Given the description of an element on the screen output the (x, y) to click on. 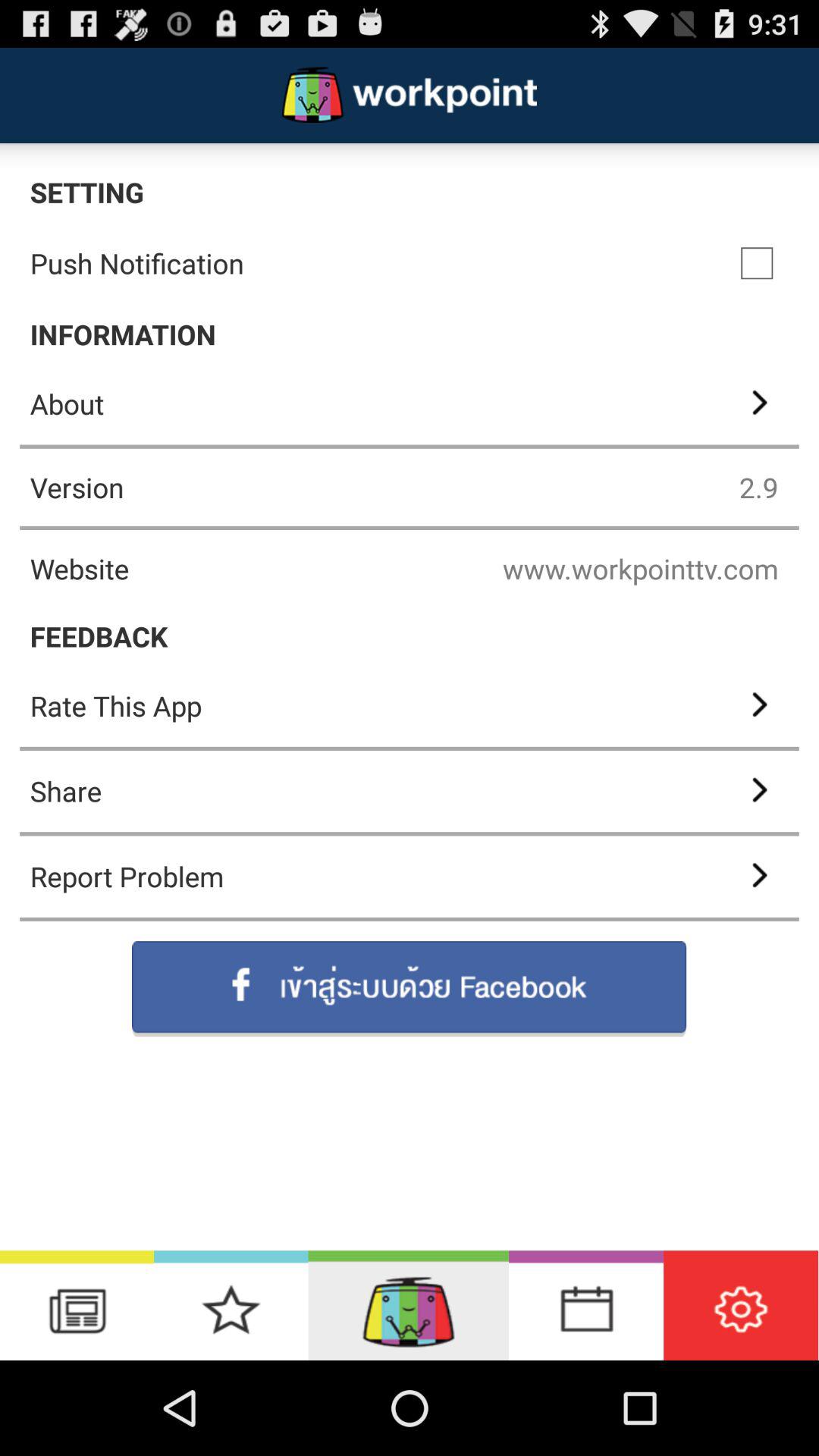
to watch the news (77, 1305)
